Given the description of an element on the screen output the (x, y) to click on. 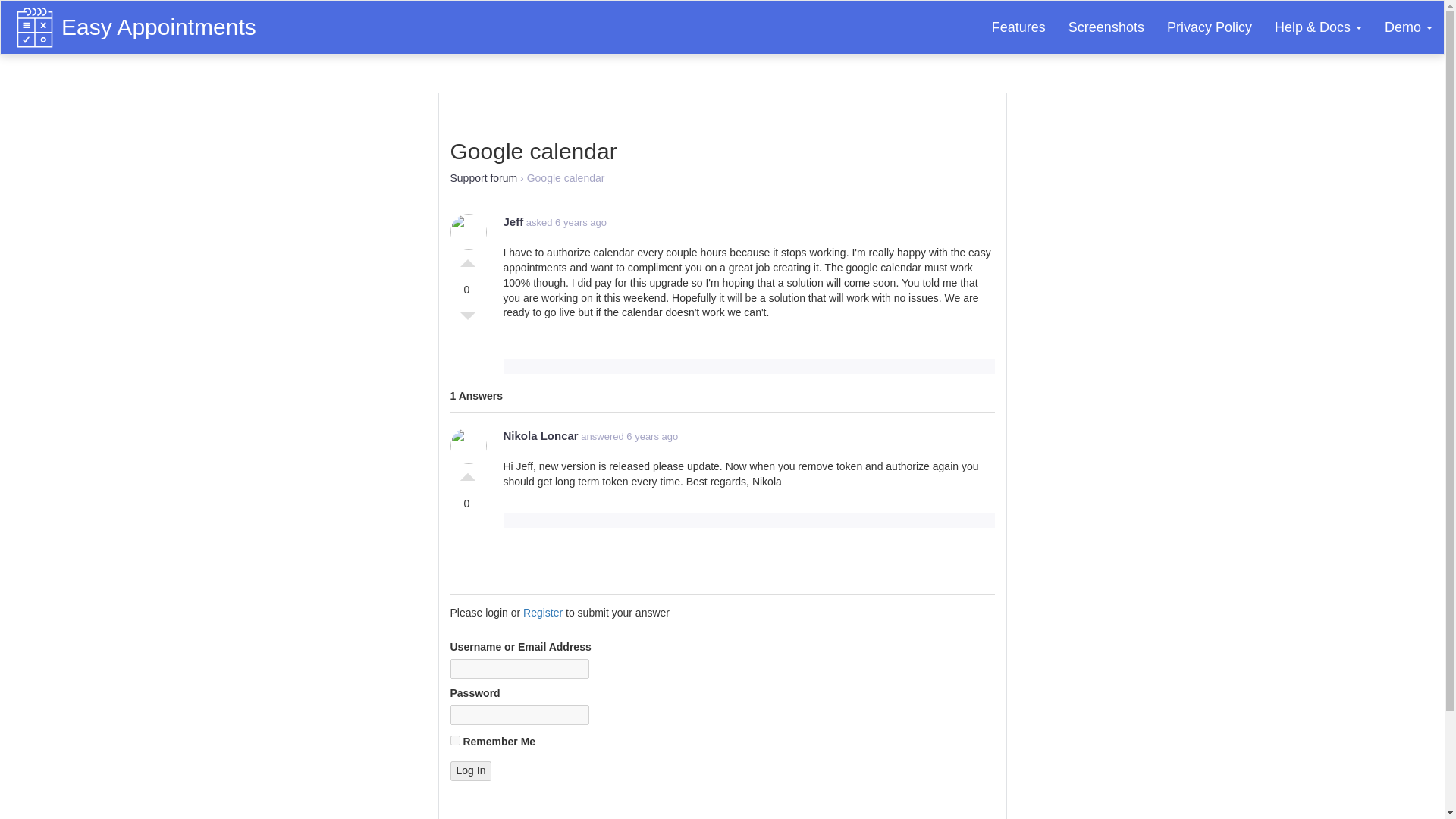
Vote Down (467, 319)
Vote Up (467, 258)
Vote Up (467, 473)
Nikola Loncar (540, 435)
Easy Appointments (162, 19)
Screenshots (1106, 27)
Jeff (513, 221)
Log In (470, 771)
Privacy Policy (1209, 27)
forever (454, 740)
Features (1018, 27)
Log In (470, 771)
Demo (1408, 27)
Register (542, 612)
Support forum (483, 177)
